Given the description of an element on the screen output the (x, y) to click on. 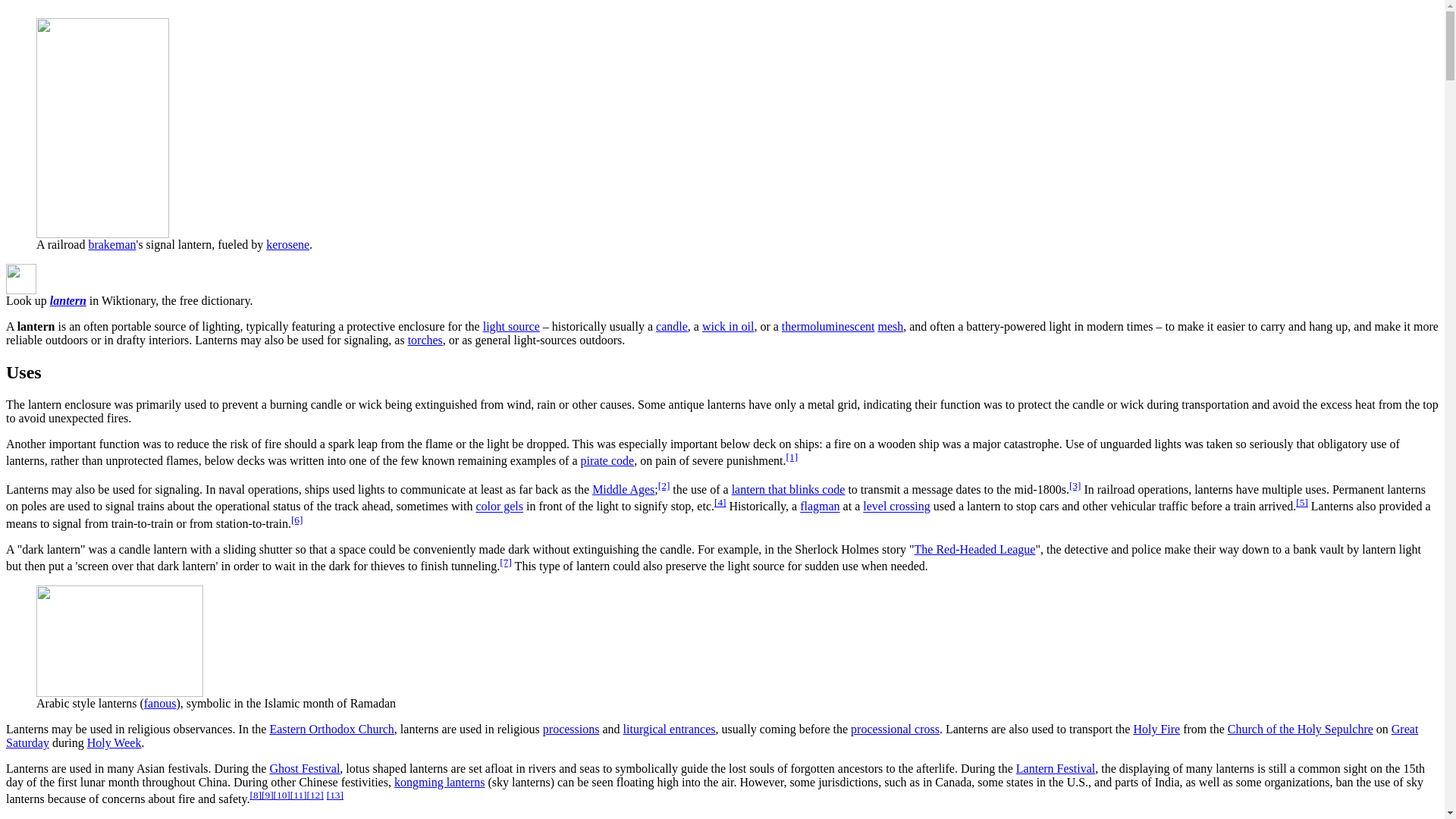
kerosene (287, 244)
Pirate code (607, 460)
torches (424, 339)
Kerosene (287, 244)
Fanous (160, 703)
Gas mantle (889, 326)
processional cross (894, 728)
fanous (160, 703)
Eastern Orthodox Church (331, 728)
Holy Week (114, 742)
